Given the description of an element on the screen output the (x, y) to click on. 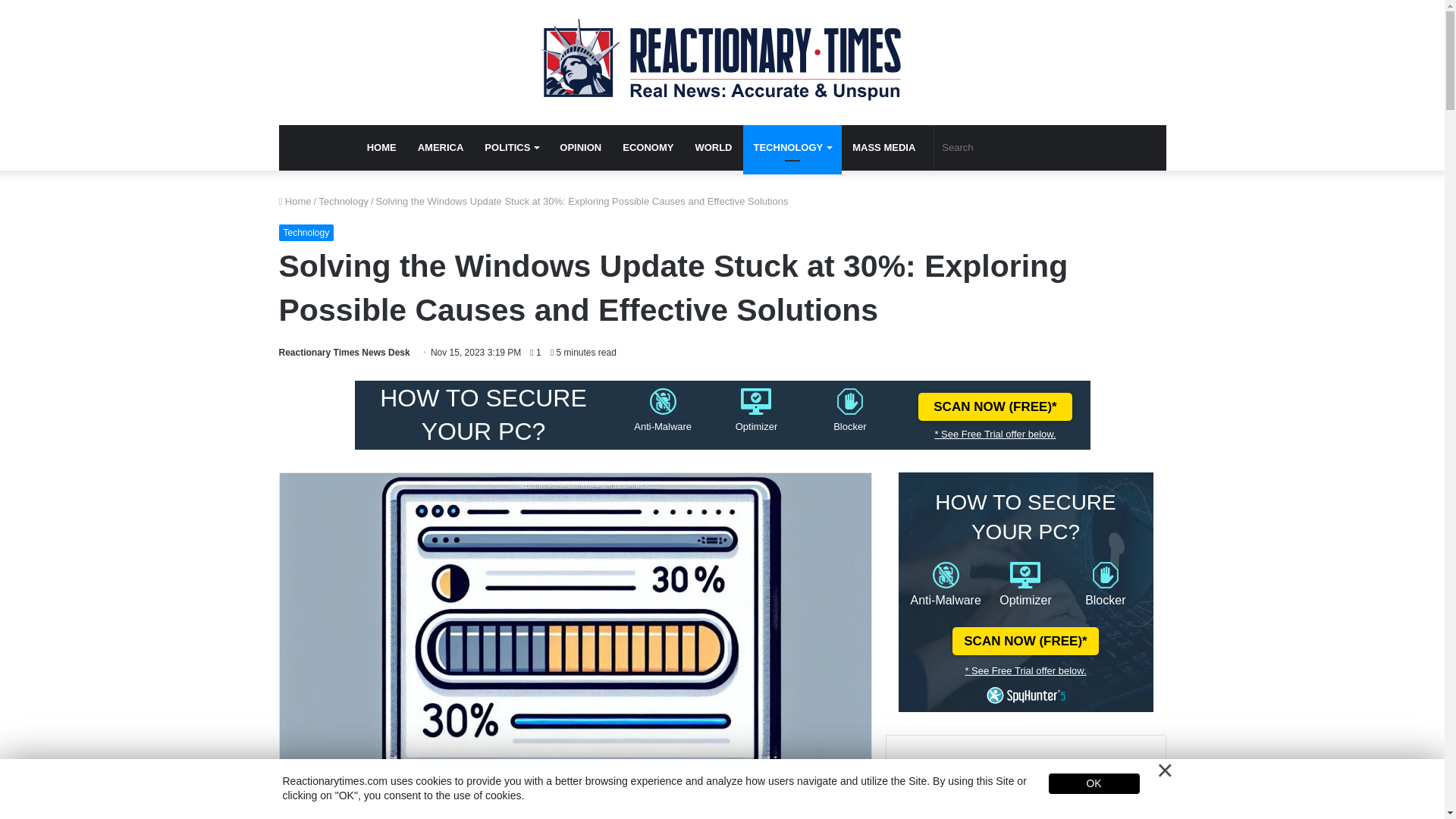
OK (1093, 783)
HOME (381, 147)
Reactionary Times (721, 62)
Technology (306, 232)
Home (295, 201)
Technology (343, 201)
MASS MEDIA (883, 147)
Reactionary Times News Desk (344, 352)
WORLD (713, 147)
TECHNOLOGY (792, 147)
AMERICA (440, 147)
OPINION (579, 147)
POLITICS (511, 147)
ECONOMY (647, 147)
Reactionary Times News Desk (344, 352)
